Given the description of an element on the screen output the (x, y) to click on. 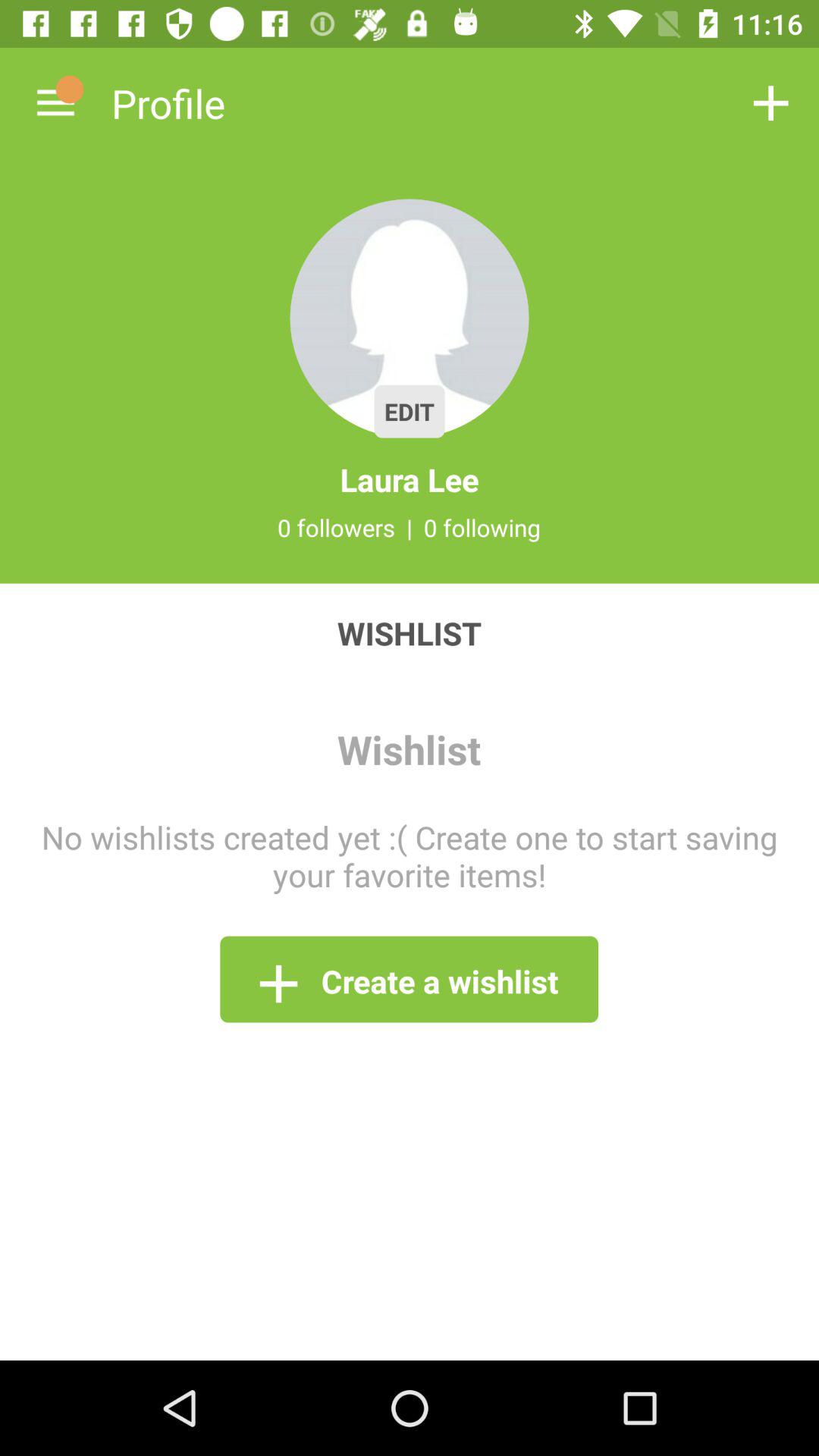
click the item next to the 0 following item (409, 527)
